Given the description of an element on the screen output the (x, y) to click on. 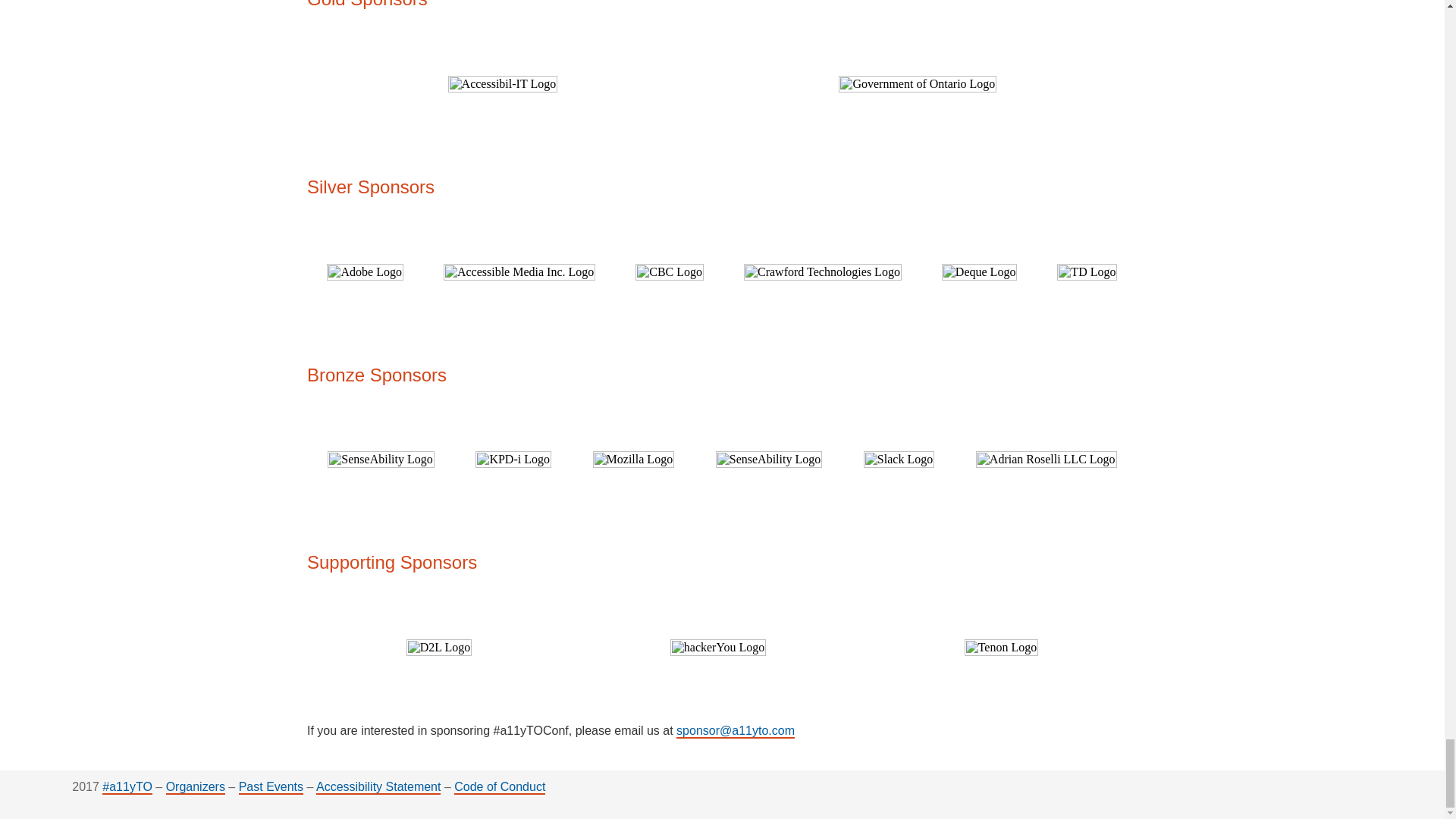
Code of Conduct (499, 787)
Accessibility Statement (378, 787)
Past Events (270, 787)
Organizers (195, 787)
